Given the description of an element on the screen output the (x, y) to click on. 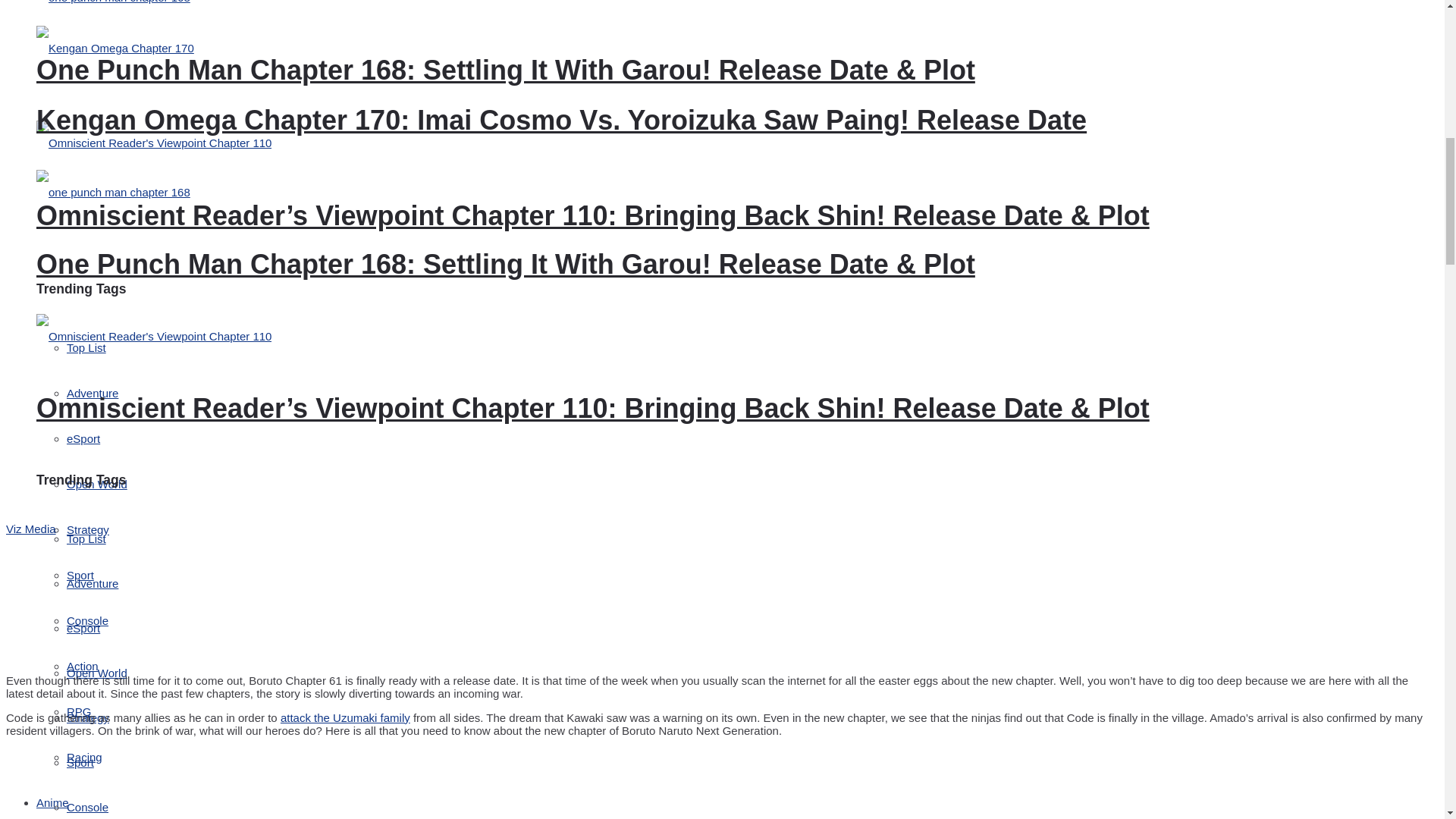
Sport (80, 574)
RPG (78, 711)
Open World (97, 483)
eSport (83, 438)
Racing (83, 757)
Top List (86, 347)
Adventure (91, 392)
Action (82, 666)
Anime (52, 802)
Strategy (87, 529)
